Given the description of an element on the screen output the (x, y) to click on. 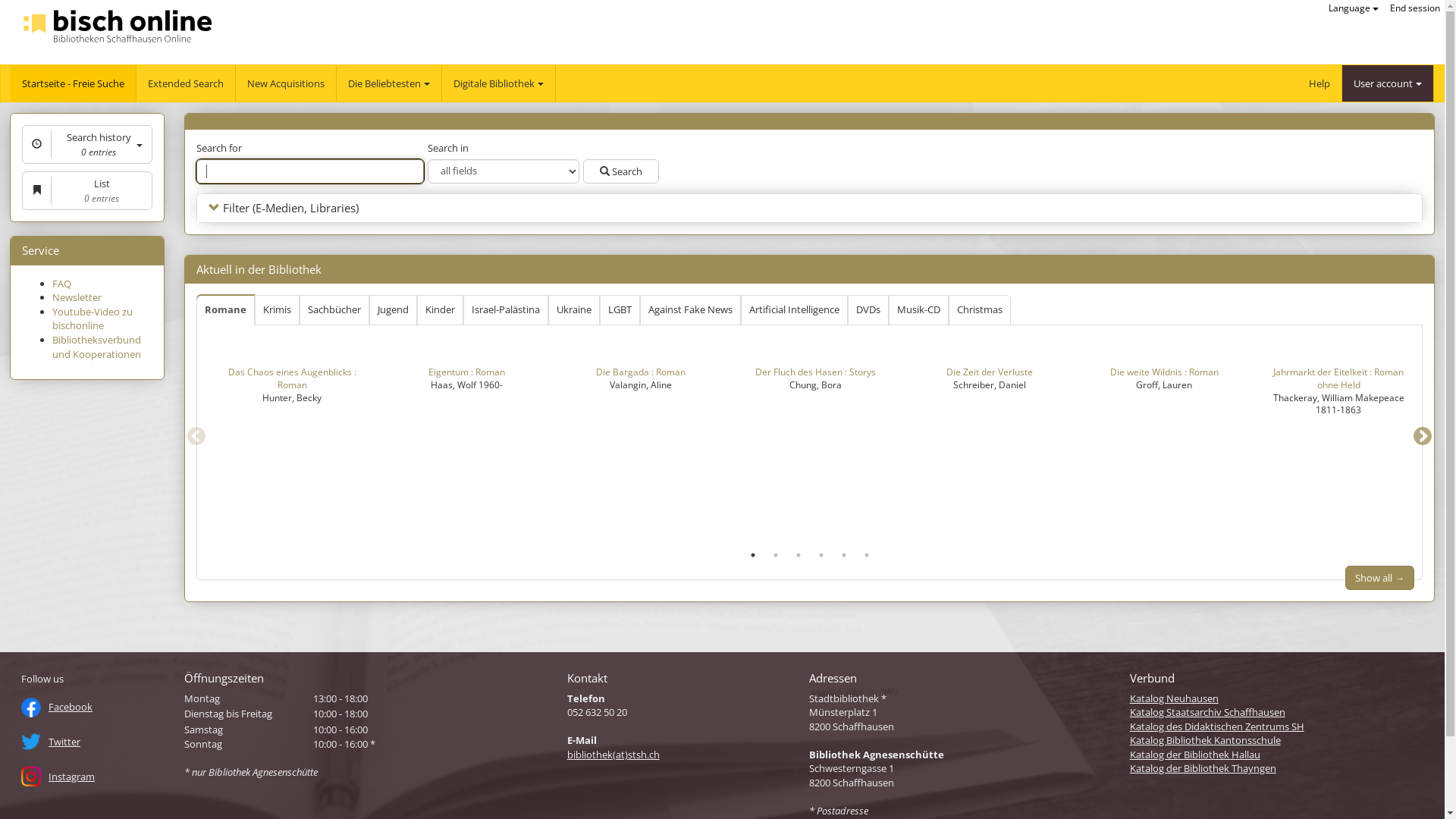
5 Element type: text (848, 447)
Die weite Wildnis : Roman
Groff, Lauren Element type: text (1163, 367)
Krimis Element type: text (276, 309)
4 Element type: text (826, 447)
Next Element type: text (1433, 382)
Previous Element type: text (196, 382)
Die Zeit der Verluste
Schreiber, Daniel Element type: text (989, 367)
LGBT Element type: text (619, 309)
Ukraine Element type: text (573, 309)
Youtube-Video zu bischonline Element type: text (92, 318)
Search Element type: text (620, 171)
Digitale Bibliothek Element type: text (498, 83)
3 Element type: text (803, 447)
Katalog Bibliothek Kantonsschule Element type: text (1204, 739)
Eigentum : Roman
Haas, Wolf 1960- Element type: text (466, 367)
Jugend Element type: text (393, 309)
Twitter Element type: text (92, 747)
Der Fluch des Hasen : Storys
Chung, Bora Element type: text (815, 367)
Kinder Element type: text (440, 309)
Startseite - Freie Suche Element type: text (72, 83)
Artificial Intelligence Element type: text (793, 309)
Christmas Element type: text (979, 309)
Katalog Neuhausen Element type: text (1173, 698)
Newsletter Element type: text (76, 297)
Instagram Element type: text (92, 782)
New Acquisitions Element type: text (285, 83)
Die Bargada : Roman
Valangin, Aline Element type: text (640, 367)
6 Element type: text (871, 447)
Extended Search Element type: text (185, 83)
Katalog der Bibliothek Hallau Element type: text (1194, 754)
Die Beliebtesten Element type: text (388, 83)
bibliothek(at)stsh.ch Element type: text (613, 754)
2 Element type: text (780, 447)
User account Element type: text (1398, 83)
Katalog der Bibliothek Thayngen Element type: text (1202, 768)
Katalog Staatsarchiv Schaffhausen Element type: text (1207, 711)
List
0 entries Element type: text (86, 190)
Search history
0 entries Element type: text (86, 144)
FAQ Element type: text (61, 283)
1 Element type: text (757, 447)
Language Element type: text (1364, 8)
Search for Element type: hover (309, 171)
Romane Element type: text (225, 310)
DVDs Element type: text (867, 309)
Help Element type: text (1330, 83)
Das Chaos eines Augenblicks : Roman
Hunter, Becky Element type: text (291, 374)
Against Fake News Element type: text (690, 309)
Facebook Element type: text (92, 713)
Musik-CD Element type: text (918, 309)
Katalog des Didaktischen Zentrums SH Element type: text (1216, 726)
Bibliotheksverbund und Kooperationen Element type: text (96, 346)
